Given the description of an element on the screen output the (x, y) to click on. 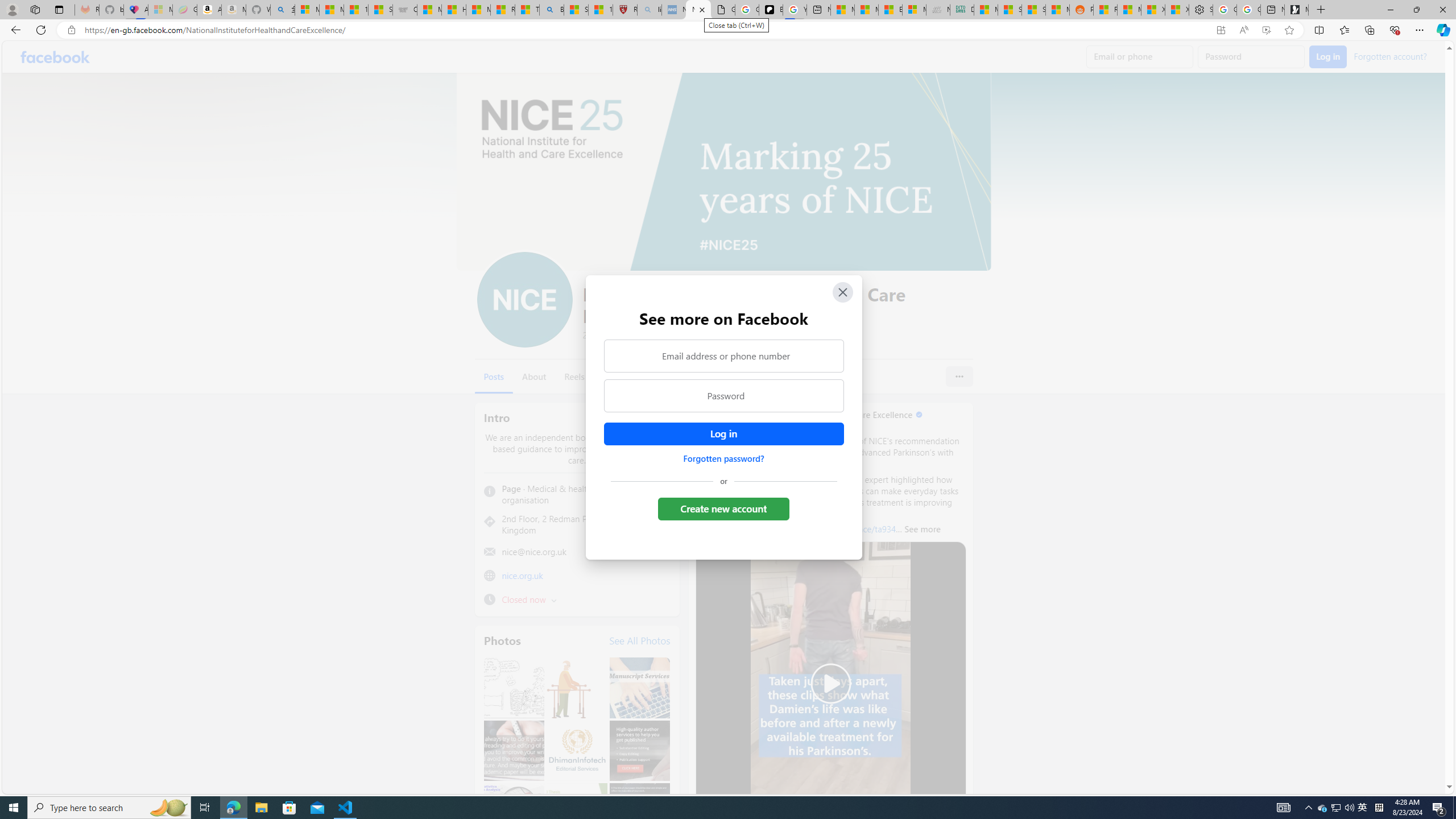
Accessible login button (723, 433)
Forgotten account? (1390, 55)
MSN (1057, 9)
Forgotten password? (723, 458)
